Given the description of an element on the screen output the (x, y) to click on. 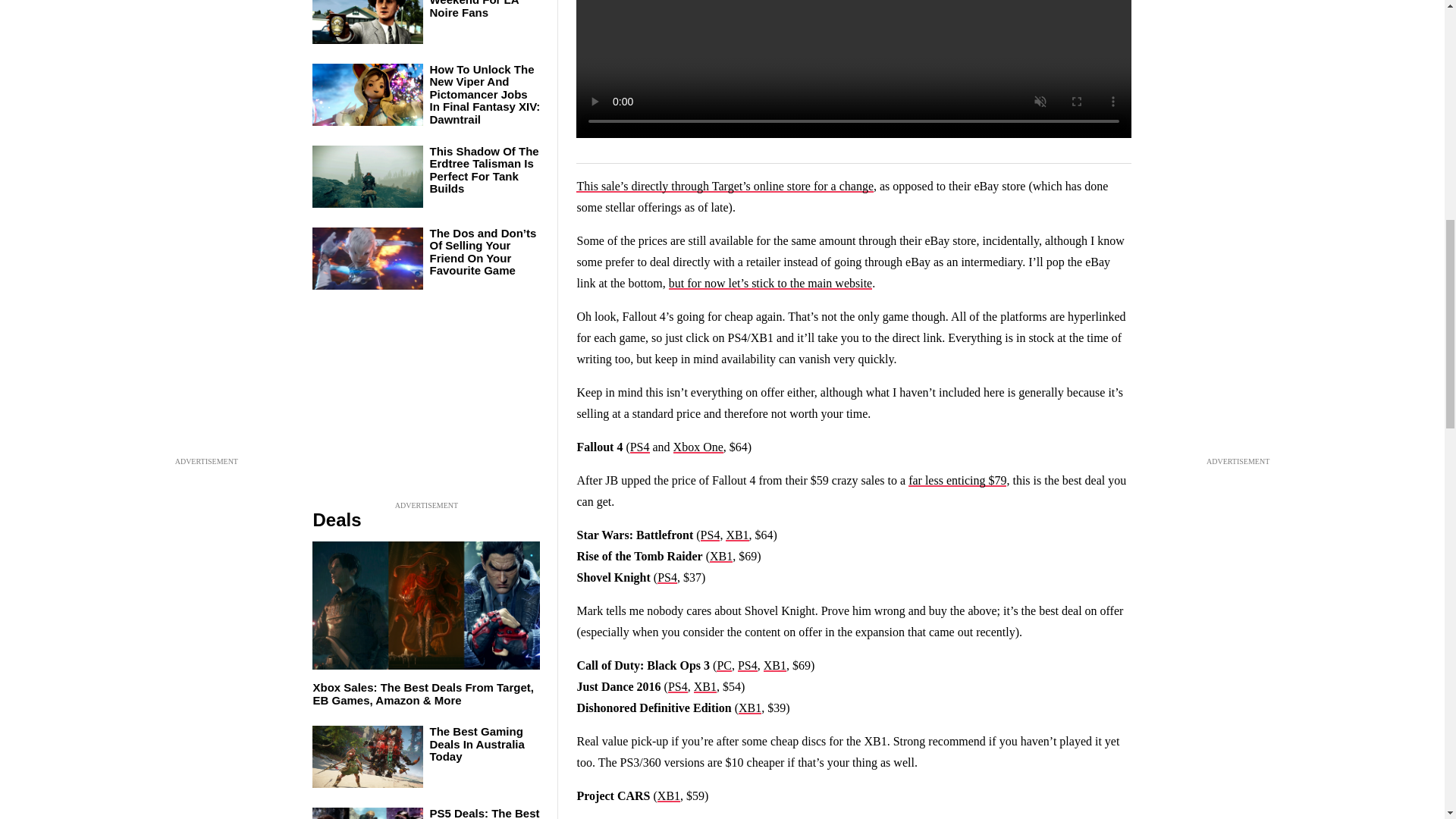
3rd party ad content (426, 403)
